Given the description of an element on the screen output the (x, y) to click on. 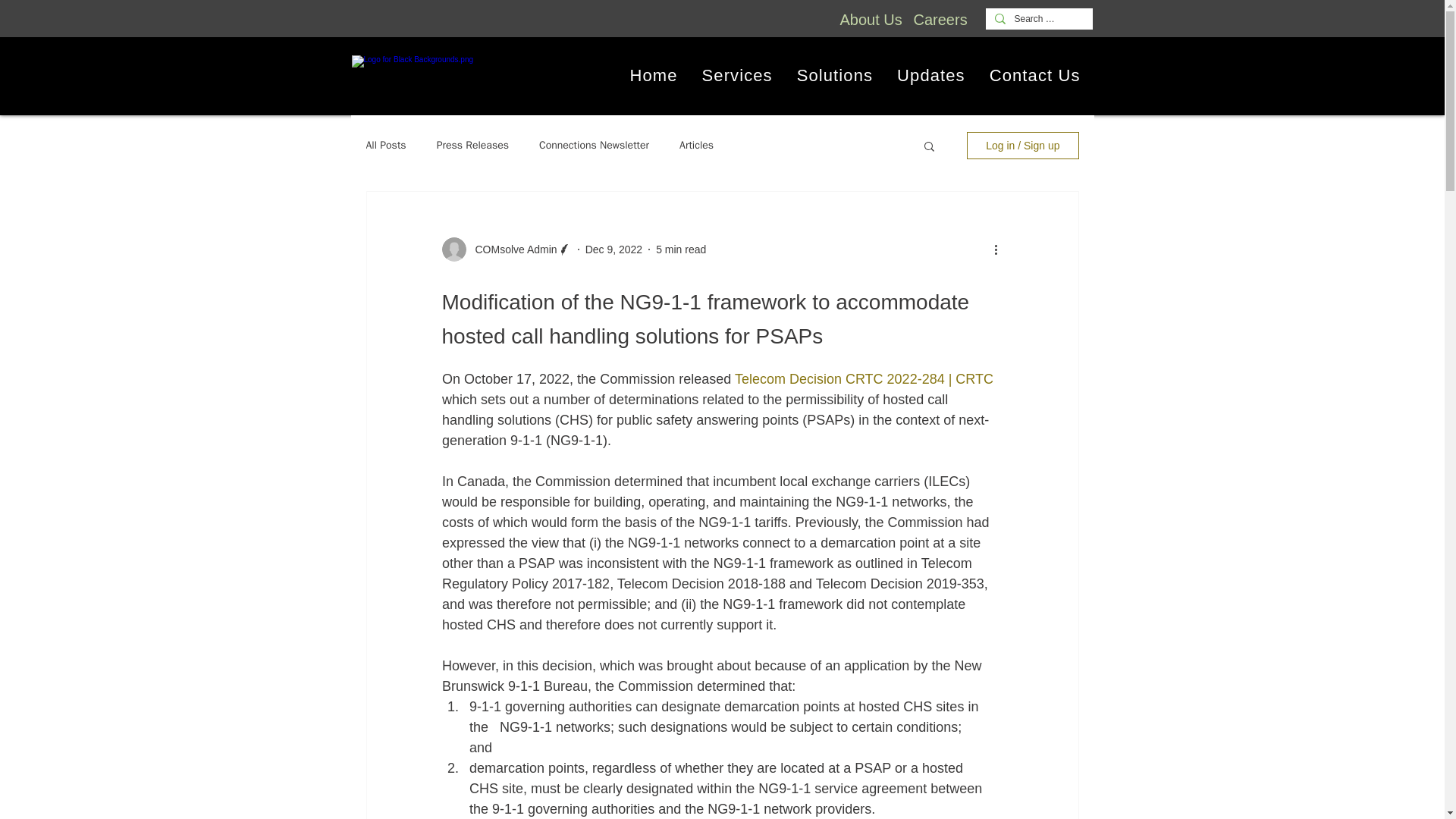
Articles (696, 145)
About Us (871, 19)
Dec 9, 2022 (614, 248)
All Posts (385, 145)
Services (737, 76)
Careers (939, 19)
5 min read (681, 248)
Press Releases (472, 145)
COMsolve Admin (510, 248)
Connections Newsletter (593, 145)
Updates (930, 76)
Contact Us (1034, 76)
Home (652, 76)
